Given the description of an element on the screen output the (x, y) to click on. 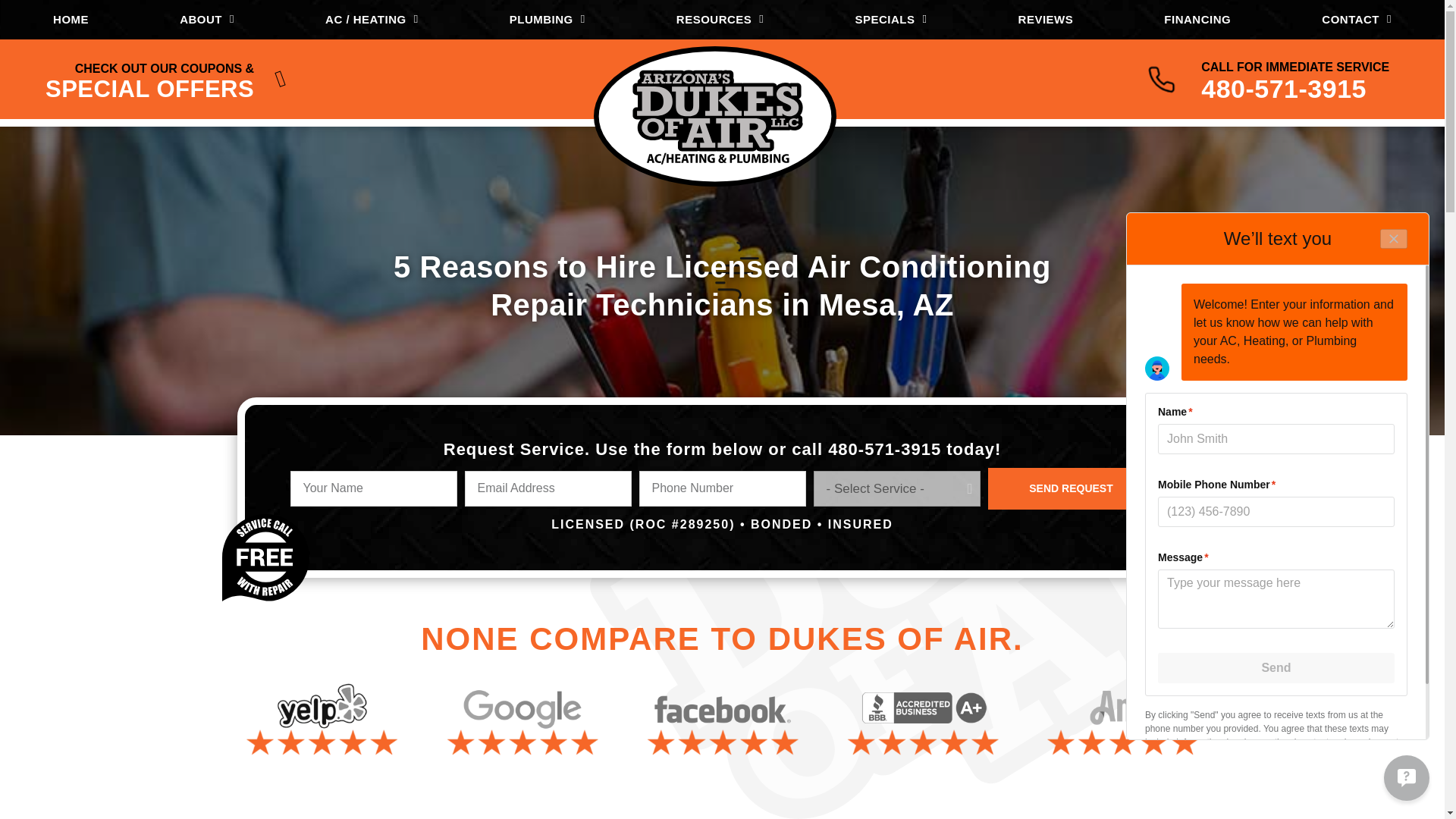
CONTACT (1356, 19)
REVIEWS (1045, 19)
FINANCING (1197, 19)
HOME (70, 19)
SPECIALS (890, 19)
PLUMBING (547, 19)
ABOUT (206, 19)
RESOURCES (719, 19)
